Given the description of an element on the screen output the (x, y) to click on. 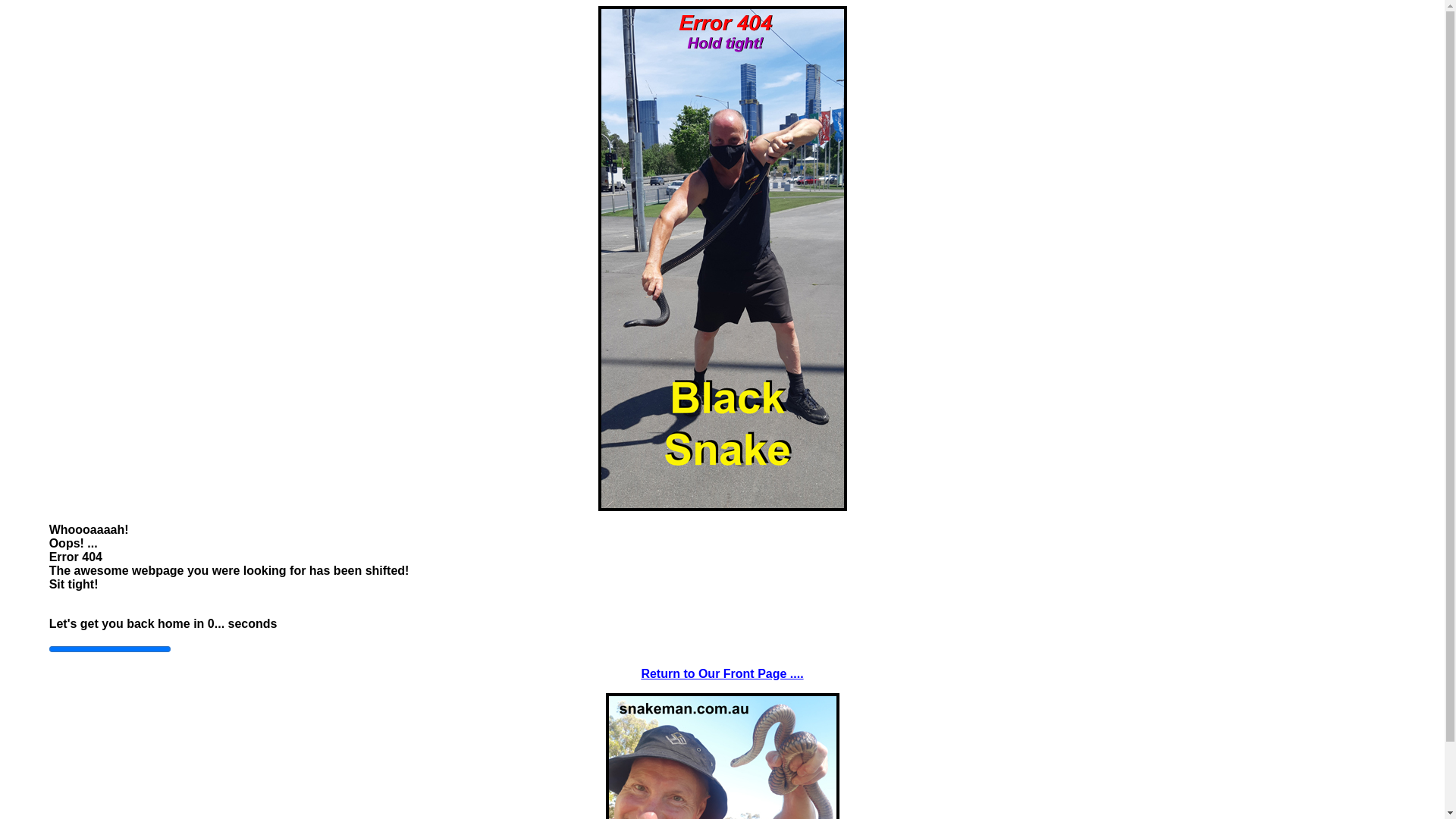
Return to Our Front Page .... Element type: text (721, 673)
snake-man-404 Element type: hover (721, 258)
